Given the description of an element on the screen output the (x, y) to click on. 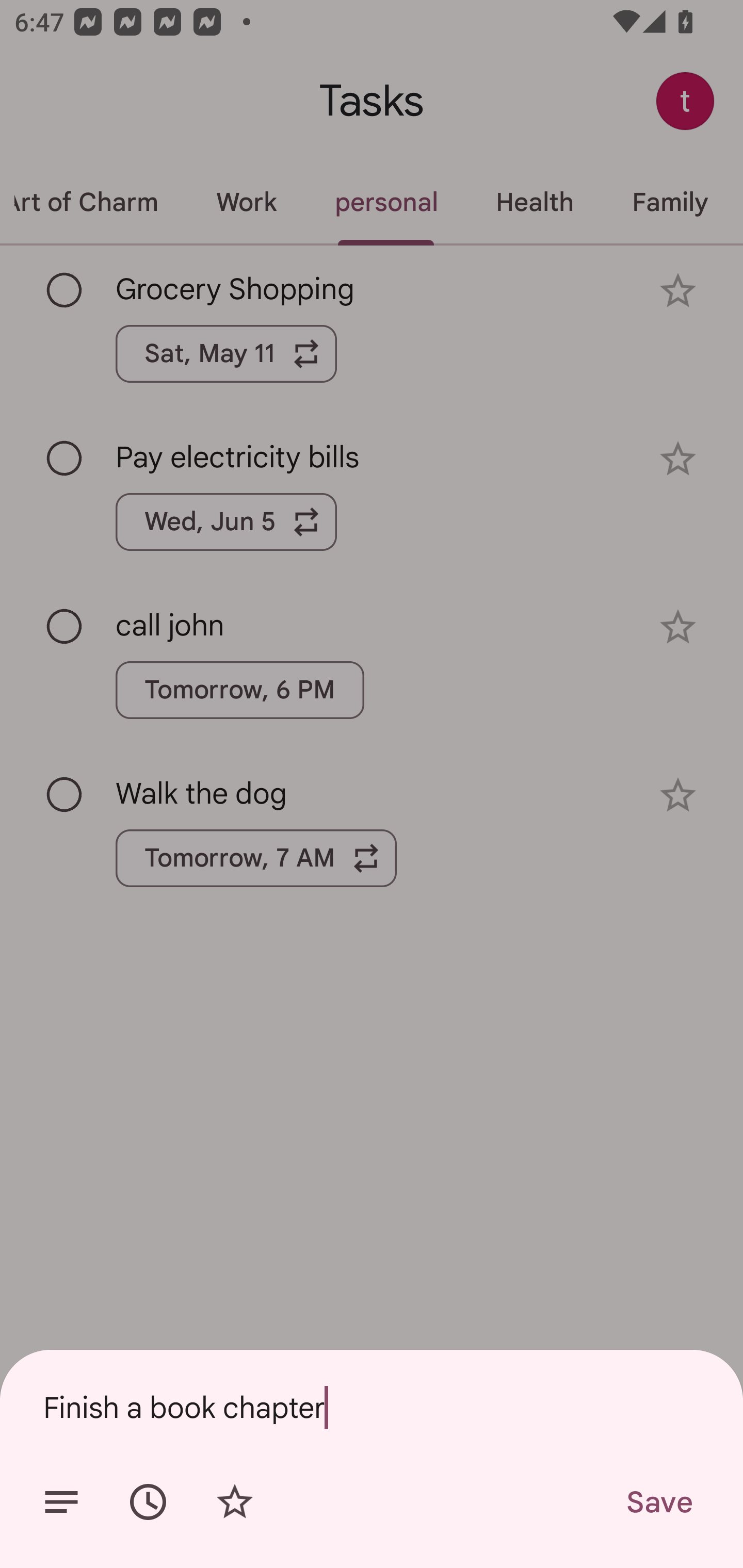
Finish a book chapter (371, 1407)
Save (659, 1501)
Add details (60, 1501)
Set date/time (147, 1501)
Add star (234, 1501)
